Given the description of an element on the screen output the (x, y) to click on. 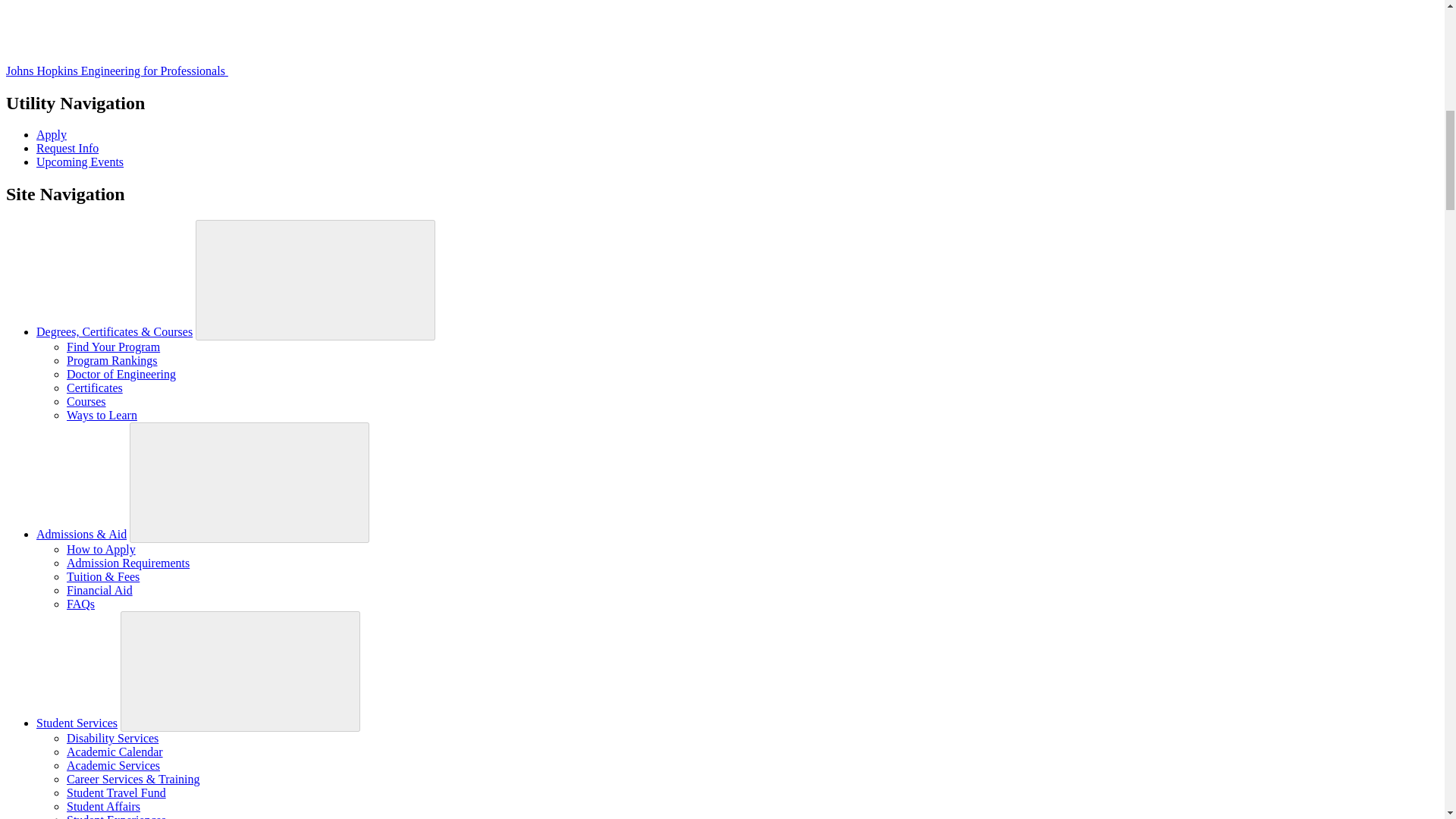
Student Services (76, 722)
Johns Hopkins Engineering for Professionals (230, 70)
Certificates (94, 387)
Ways to Learn (101, 414)
Find Your Program (113, 346)
Doctor of Engineering (121, 373)
Admission Requirements (127, 562)
FAQs (80, 603)
How to Apply (100, 549)
Apply (51, 133)
Financial Aid (99, 590)
Courses (86, 400)
Request Info (67, 147)
Program Rankings (111, 359)
Upcoming Events (79, 161)
